Given the description of an element on the screen output the (x, y) to click on. 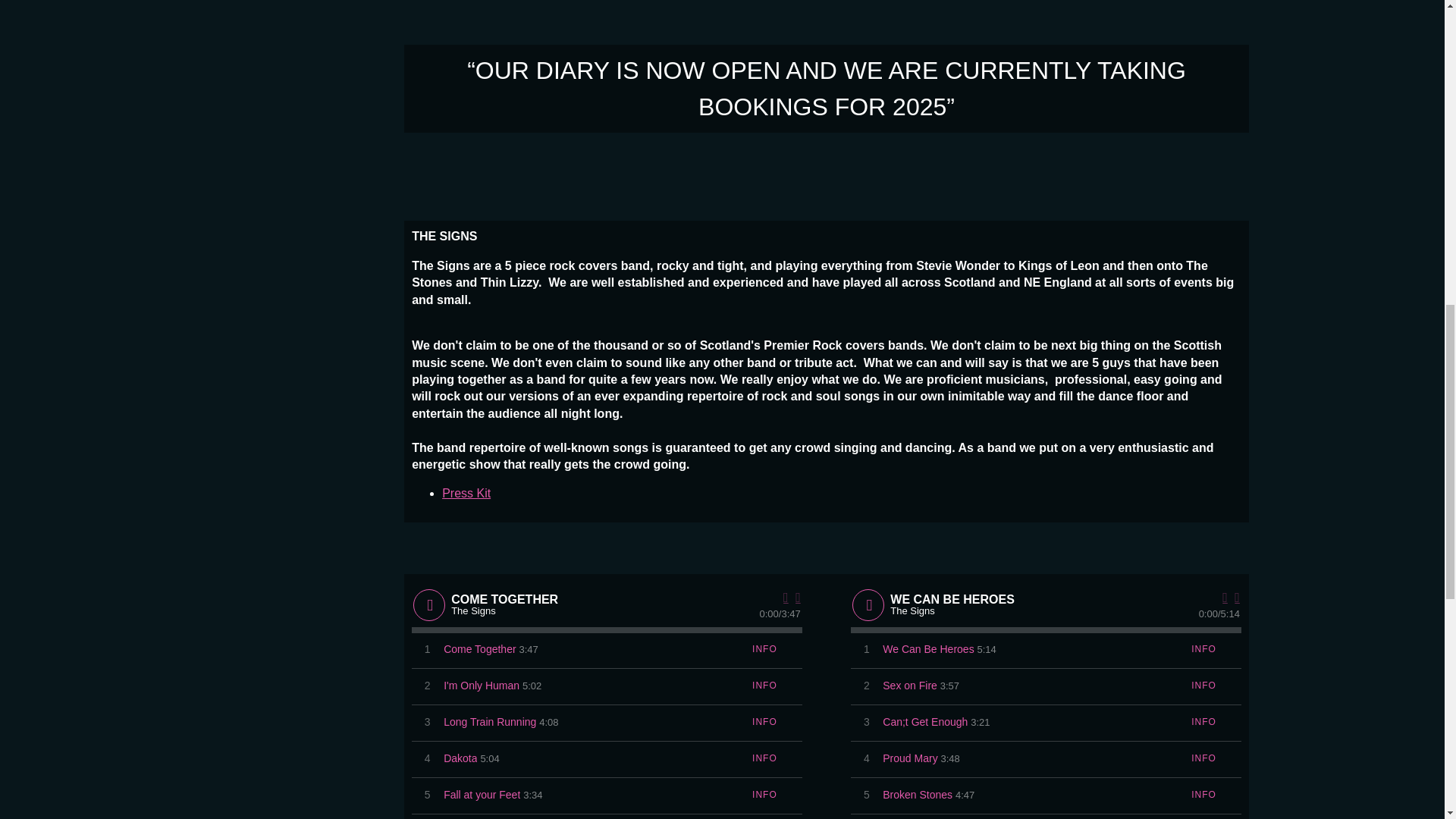
Long Train Running (489, 722)
I'm Only Human (481, 685)
INFO (764, 649)
I'm Only Human (481, 685)
INFO (764, 722)
INFO (764, 685)
Come Together (479, 649)
Long Train Running (489, 722)
Press Kit (466, 492)
Come Together (479, 649)
